Given the description of an element on the screen output the (x, y) to click on. 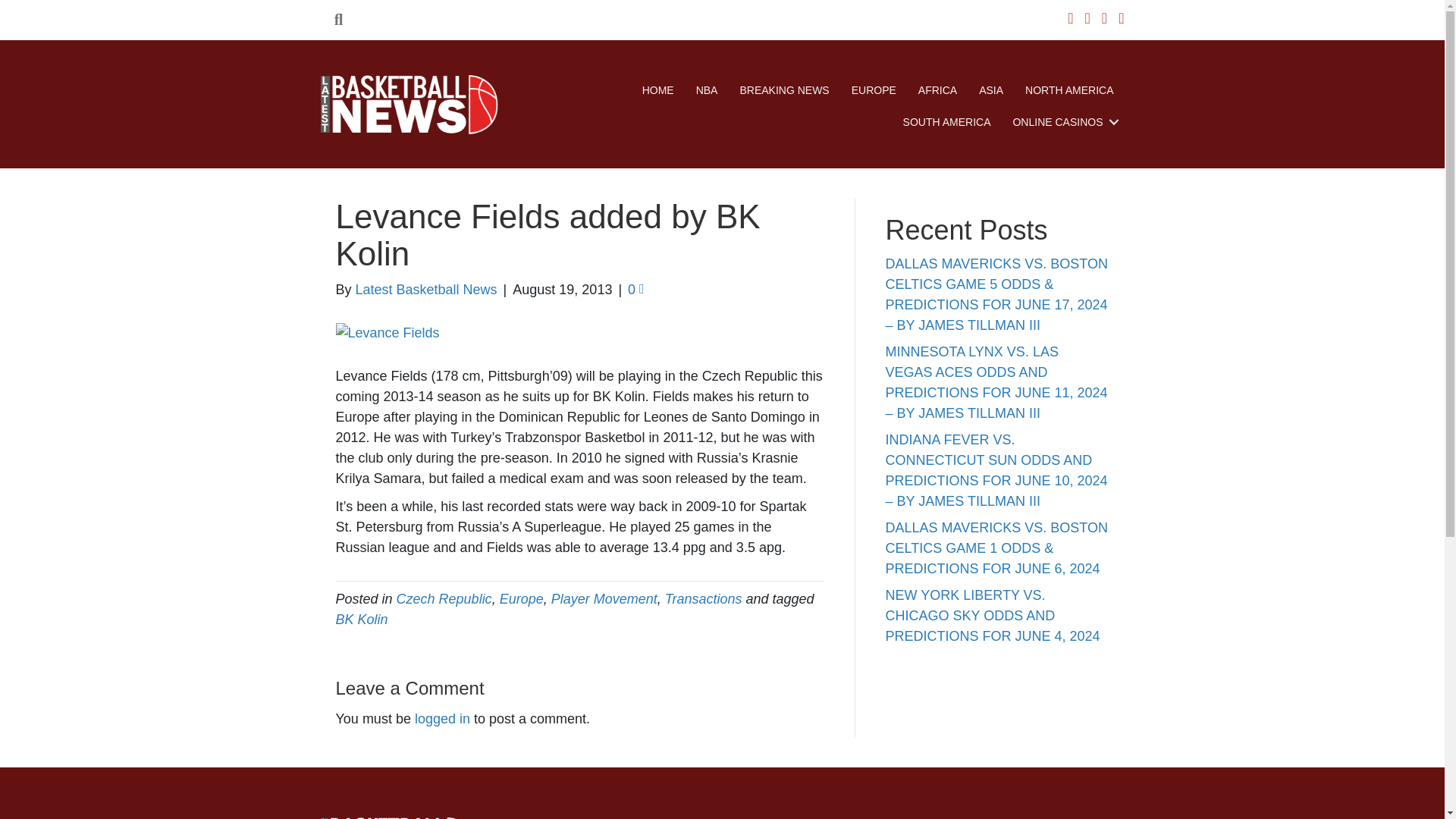
lbn-logo (409, 106)
NORTH AMERICA (1069, 90)
BK Kolin (360, 619)
ONLINE CASINOS (1062, 122)
BREAKING NEWS (784, 90)
ASIA (990, 90)
NBA (707, 90)
AFRICA (937, 90)
SOUTH AMERICA (946, 122)
Transactions (703, 598)
HOME (657, 90)
Europe (521, 598)
Czech Republic (444, 598)
EUROPE (874, 90)
